Given the description of an element on the screen output the (x, y) to click on. 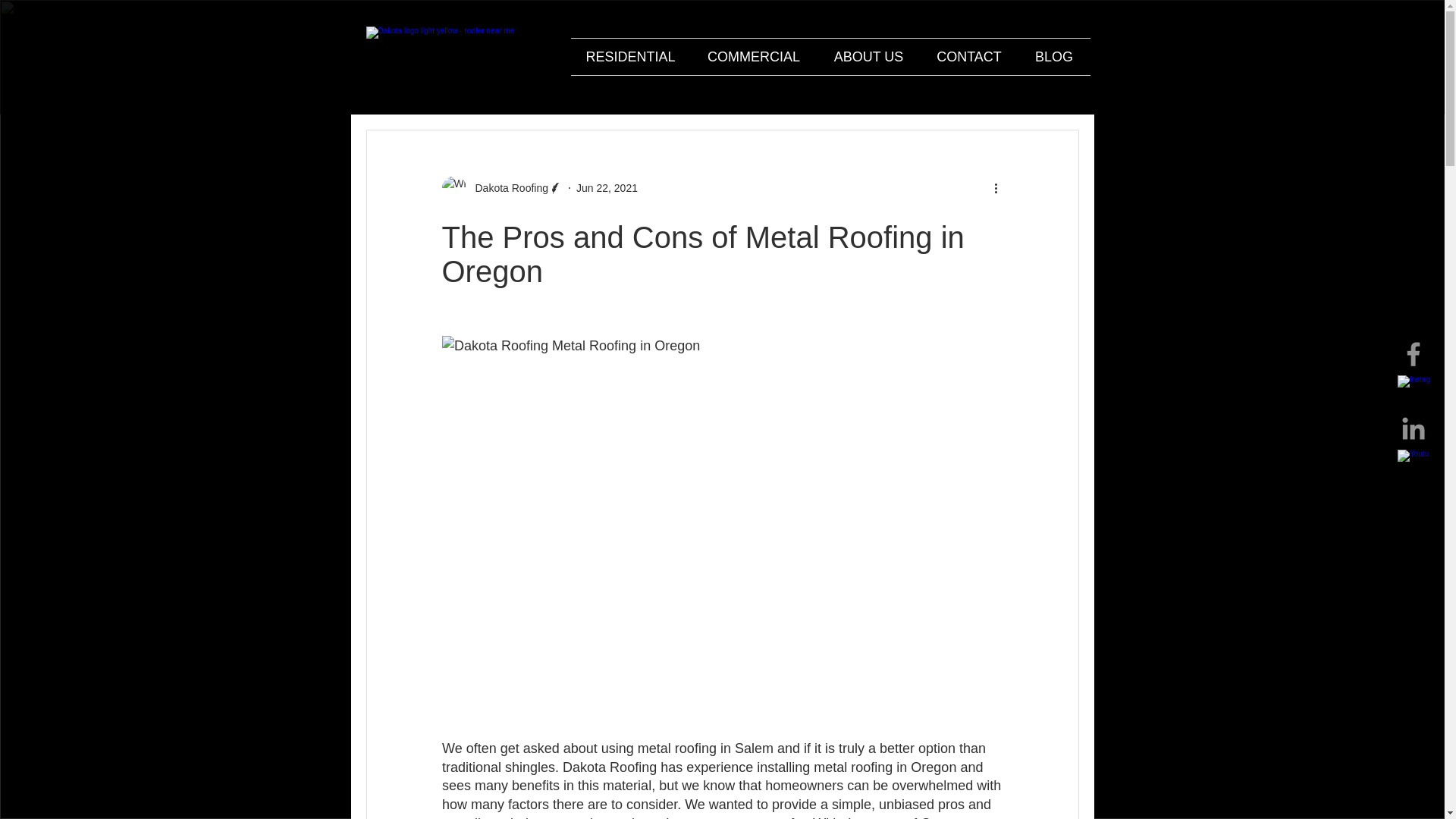
ABOUT US (868, 56)
BLOG (1053, 56)
CONTACT (968, 56)
Dakota Roofing (506, 188)
RESIDENTIAL (630, 56)
Jun 22, 2021 (606, 187)
COMMERCIAL (753, 56)
